Given the description of an element on the screen output the (x, y) to click on. 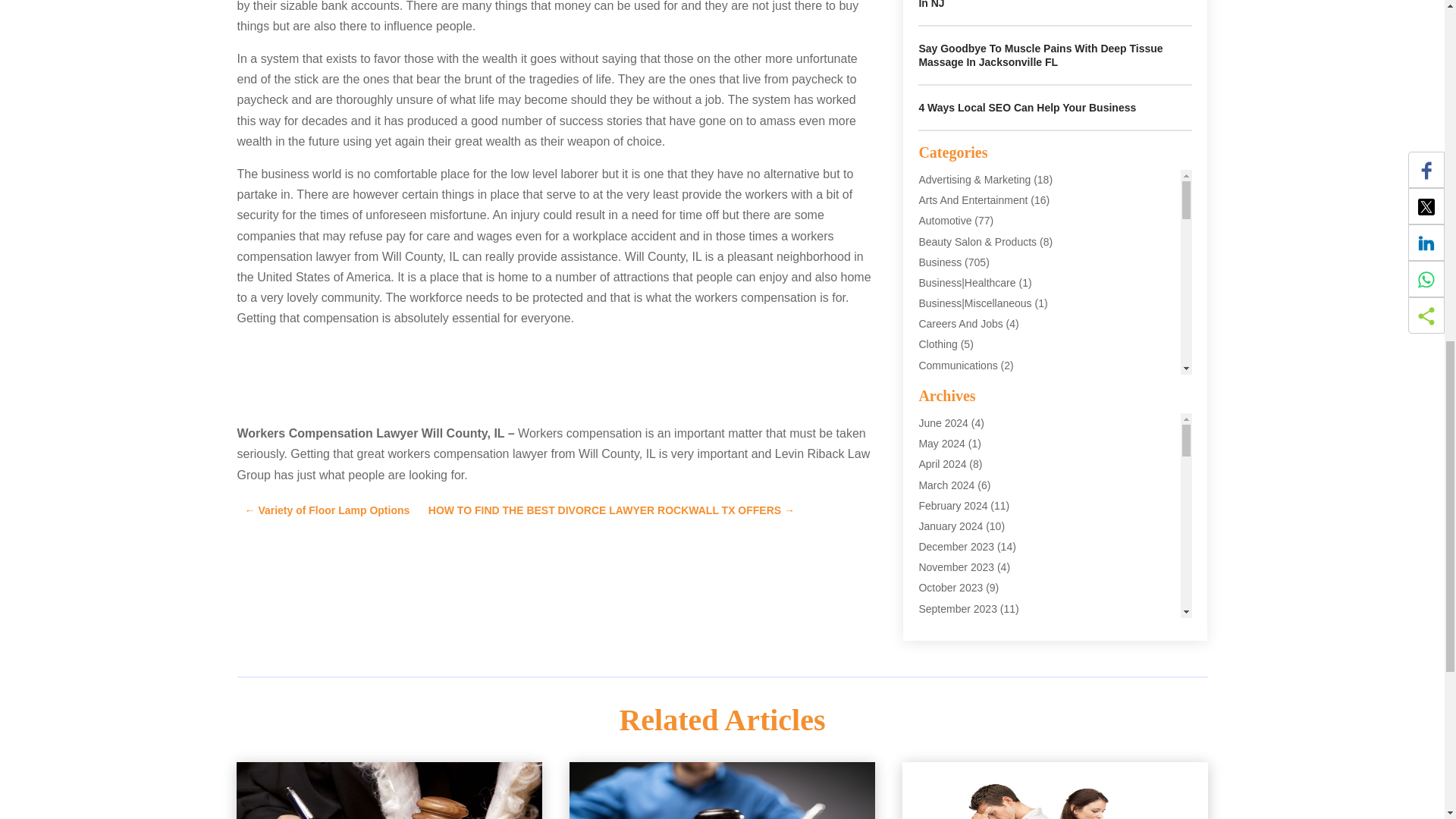
Electricians (945, 489)
Automotive (944, 220)
Construction And Maintenance (990, 426)
Events (934, 509)
Community (945, 386)
Clothing (937, 344)
Computer And Internet (971, 406)
Dental (933, 447)
Expert Tips For Troubleshooting Your Bruno Stair Lift In NJ (1053, 4)
Careers And Jobs (960, 323)
Finance And Investment (975, 530)
Health And Fitness (962, 612)
Education (941, 468)
4 Ways Local SEO Can Help Your Business (1026, 107)
